Given the description of an element on the screen output the (x, y) to click on. 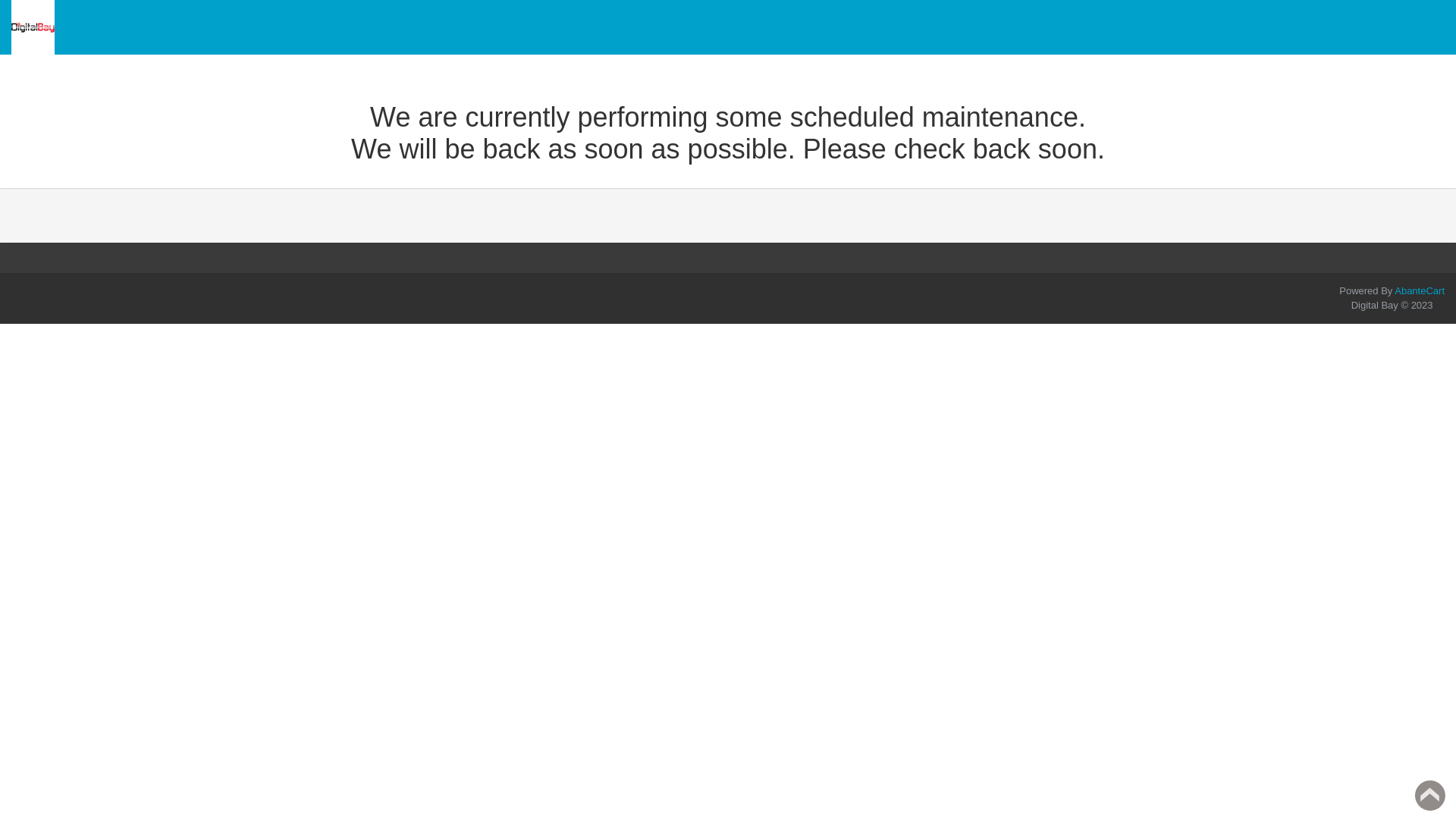
Back to top Element type: text (1430, 795)
Digital Bay Element type: hover (32, 27)
AbanteCart Element type: text (1419, 290)
